Given the description of an element on the screen output the (x, y) to click on. 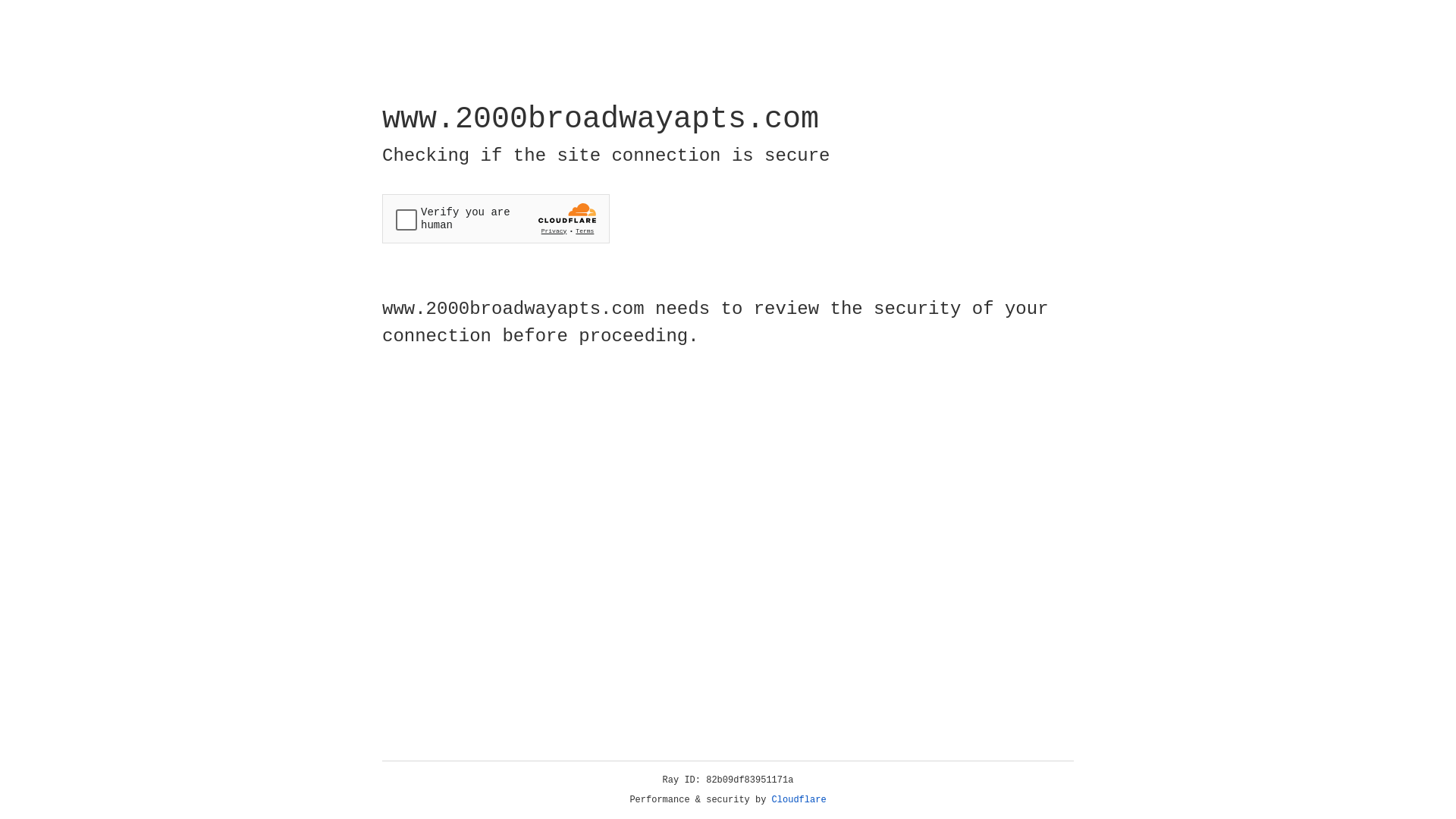
Cloudflare Element type: text (798, 799)
Widget containing a Cloudflare security challenge Element type: hover (495, 218)
